Given the description of an element on the screen output the (x, y) to click on. 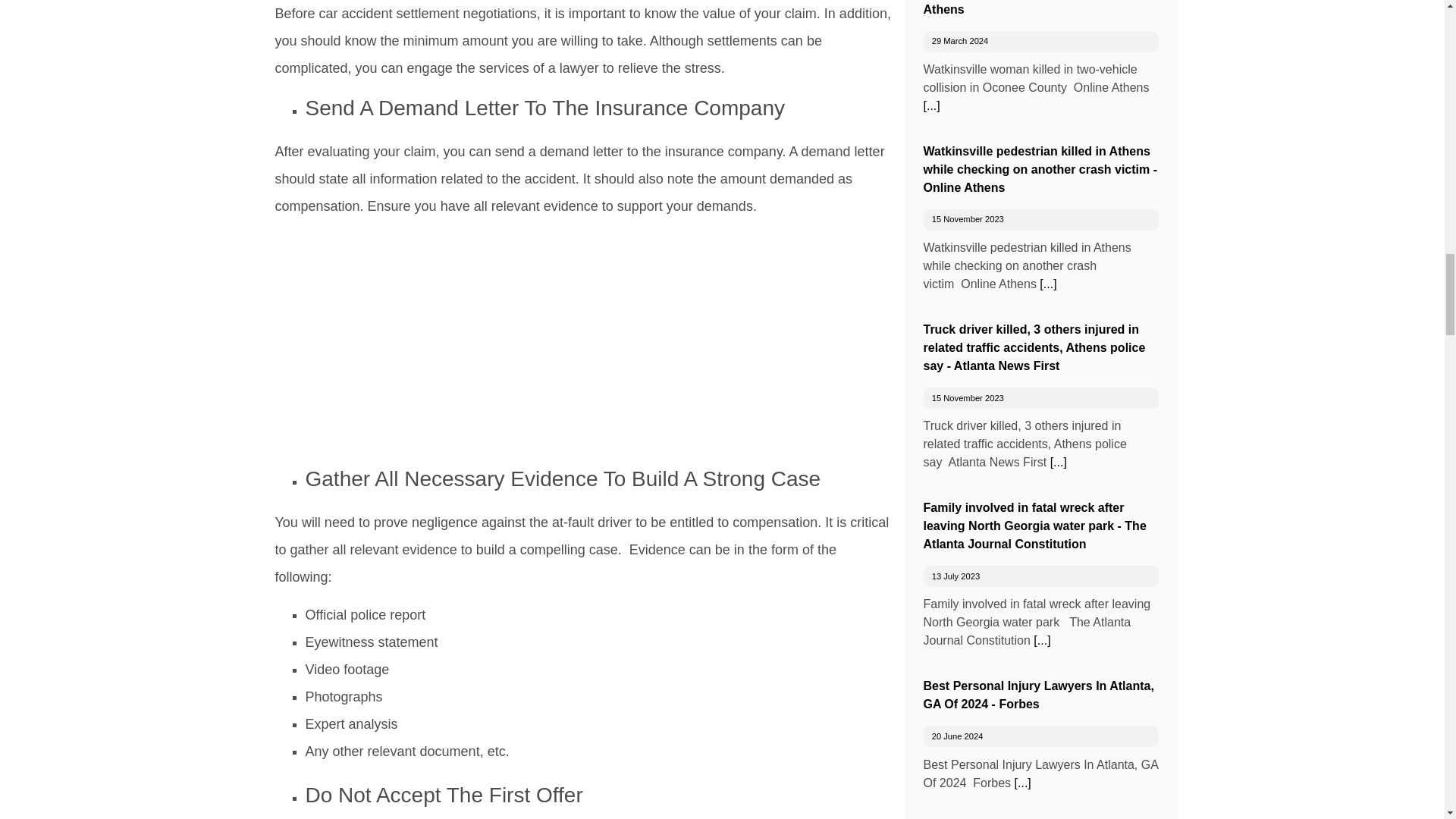
What Is the Average Car Accident Settlement? (464, 336)
